Given the description of an element on the screen output the (x, y) to click on. 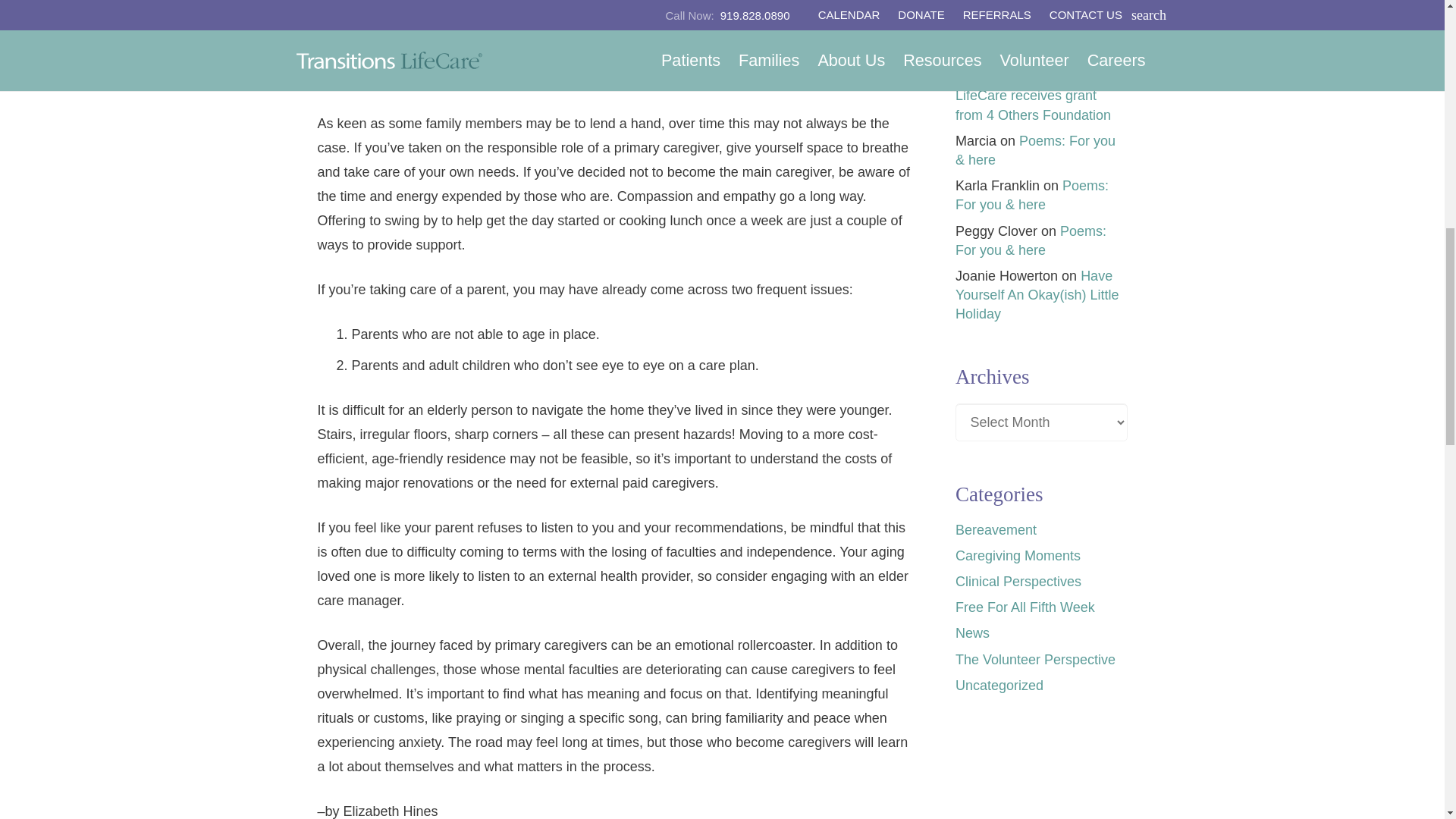
Back to top (1403, 26)
